Given the description of an element on the screen output the (x, y) to click on. 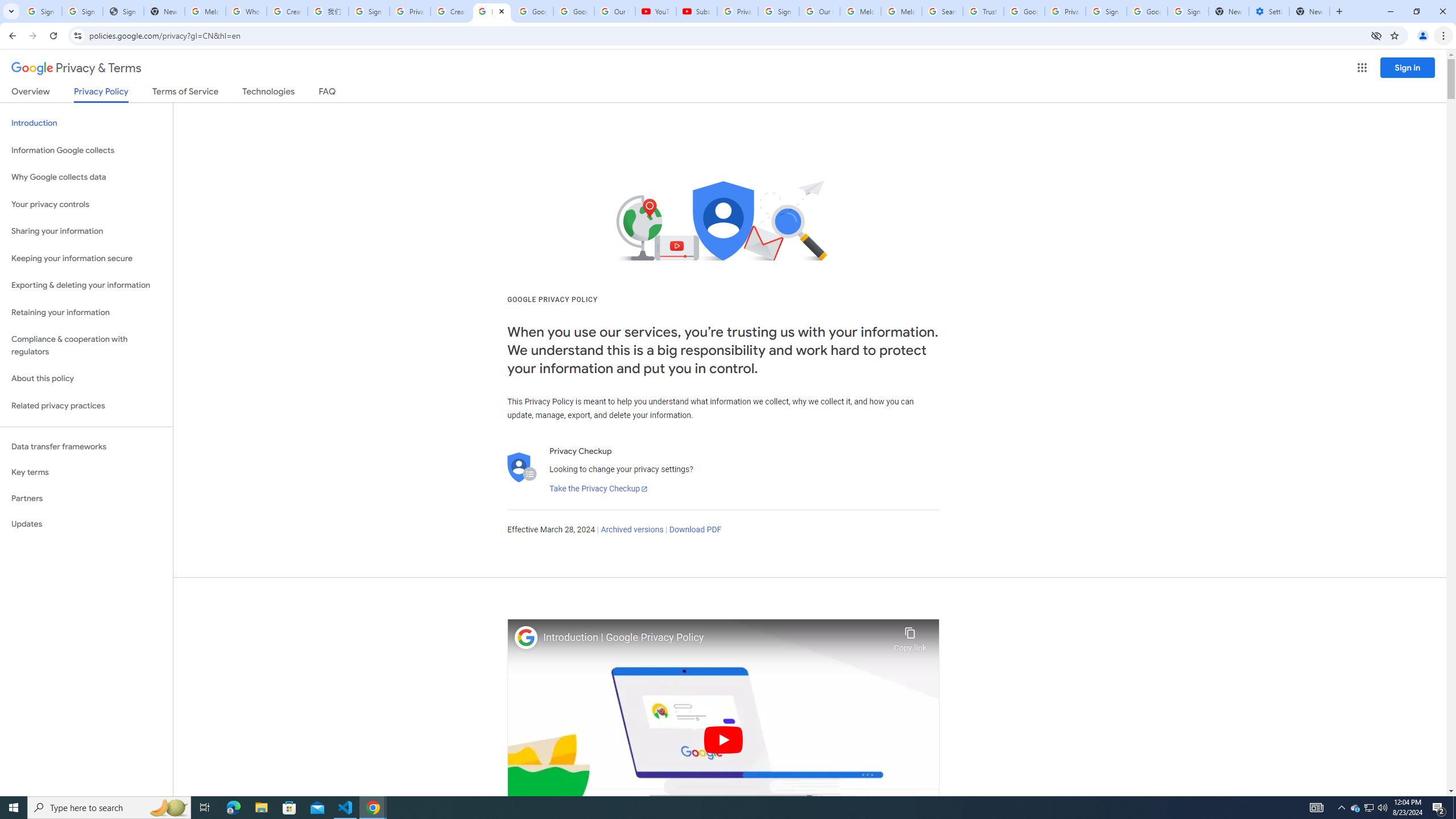
Key terms (86, 472)
Updates (86, 524)
Introduction | Google Privacy Policy (715, 637)
Sharing your information (86, 230)
Keeping your information secure (86, 258)
Sign In - USA TODAY (122, 11)
New Tab (1309, 11)
Introduction (86, 122)
Related privacy practices (86, 405)
Subscriptions - YouTube (696, 11)
Settings - Addresses and more (1268, 11)
Download PDF (695, 529)
